Given the description of an element on the screen output the (x, y) to click on. 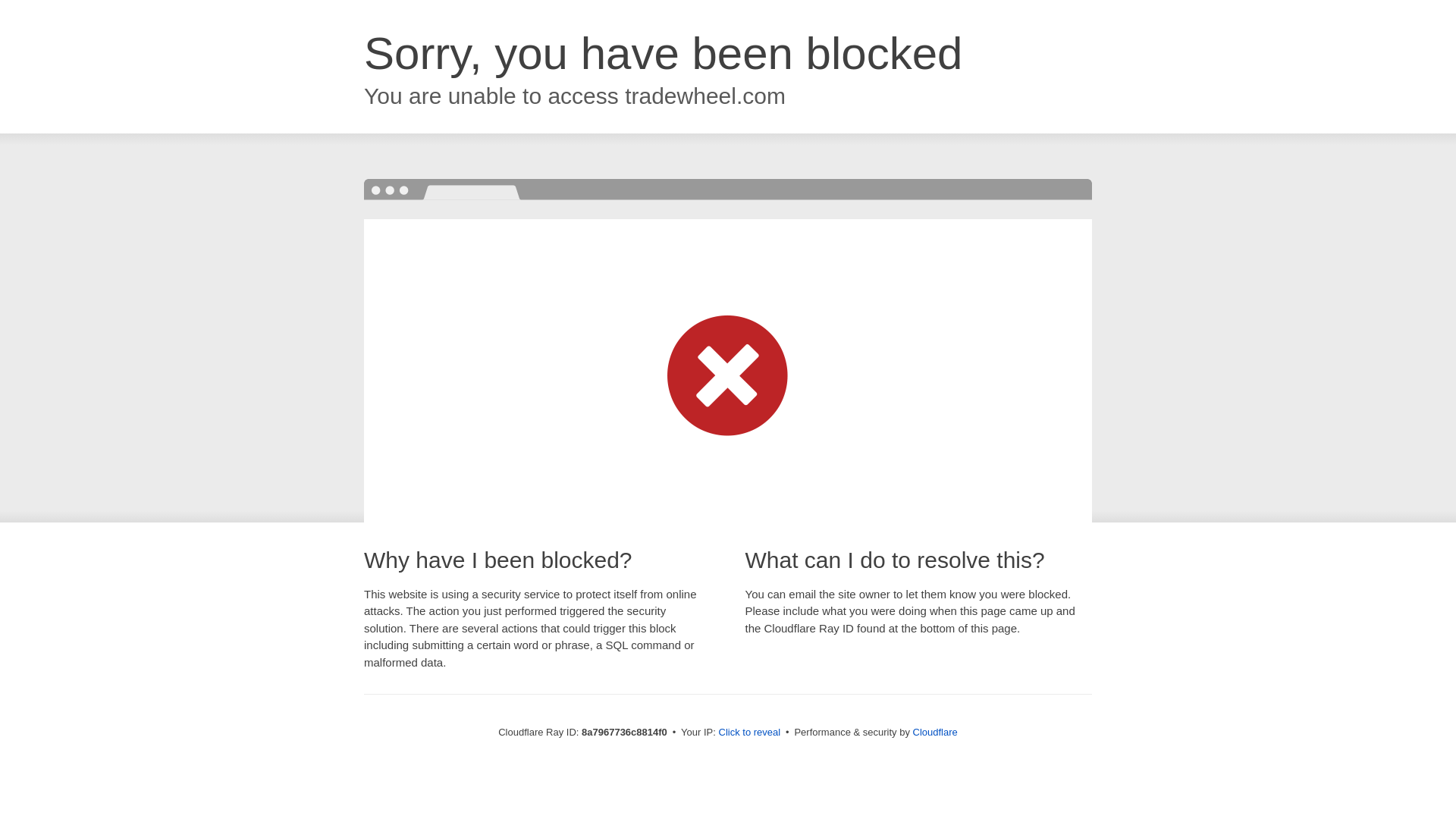
Click to reveal (749, 732)
Cloudflare (935, 731)
